Given the description of an element on the screen output the (x, y) to click on. 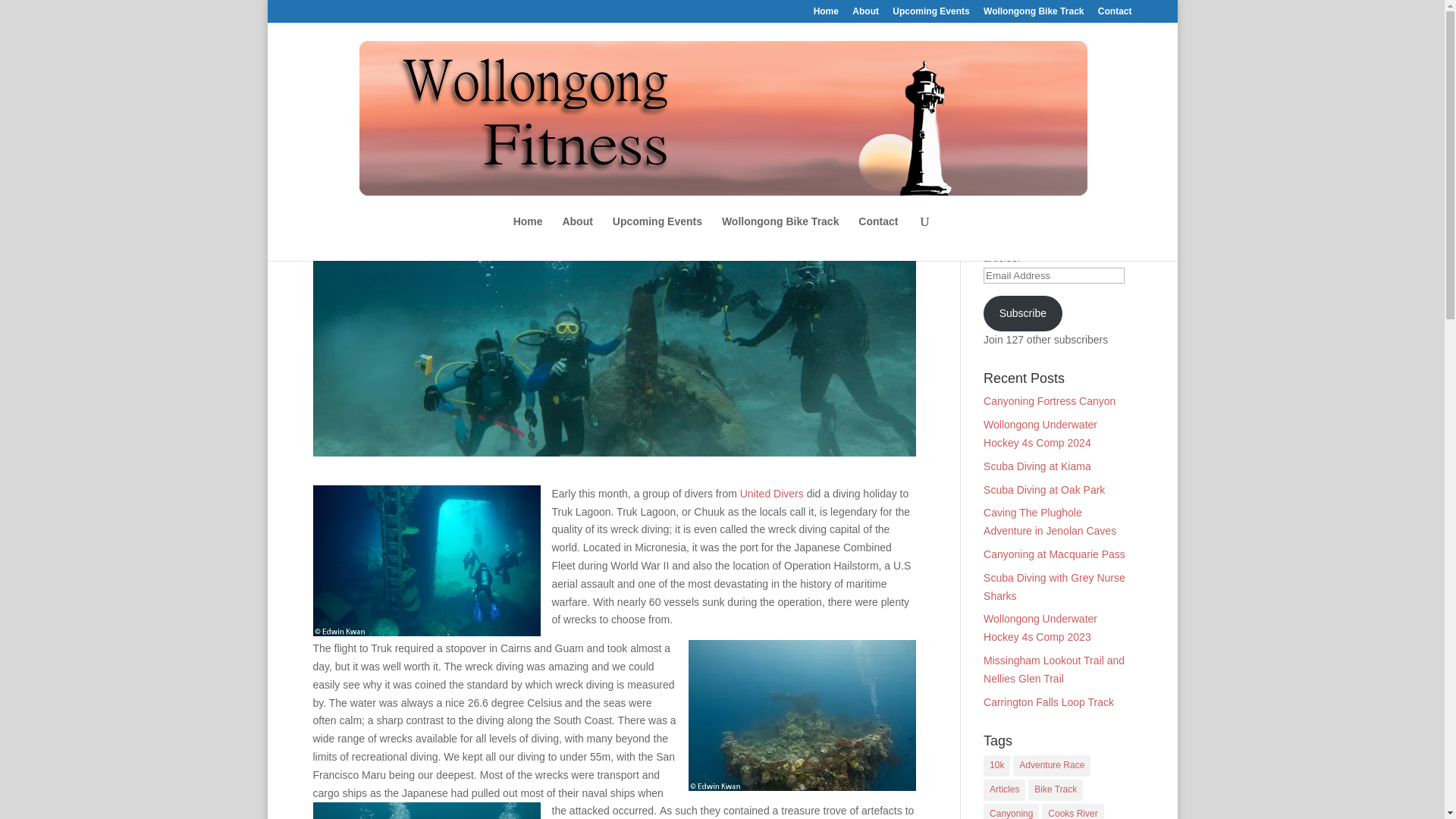
Contact (1114, 14)
Bike Track (1055, 789)
Carrington Falls Loop Track (1048, 702)
Wollongong Bike Track (1033, 14)
Wollongong Bike Track (781, 238)
Subscribe (1023, 312)
Canyoning Fortress Canyon (1049, 400)
Scuba Diving with Grey Nurse Sharks (1054, 586)
Canyoning (1011, 811)
United Divers Website (771, 493)
